Given the description of an element on the screen output the (x, y) to click on. 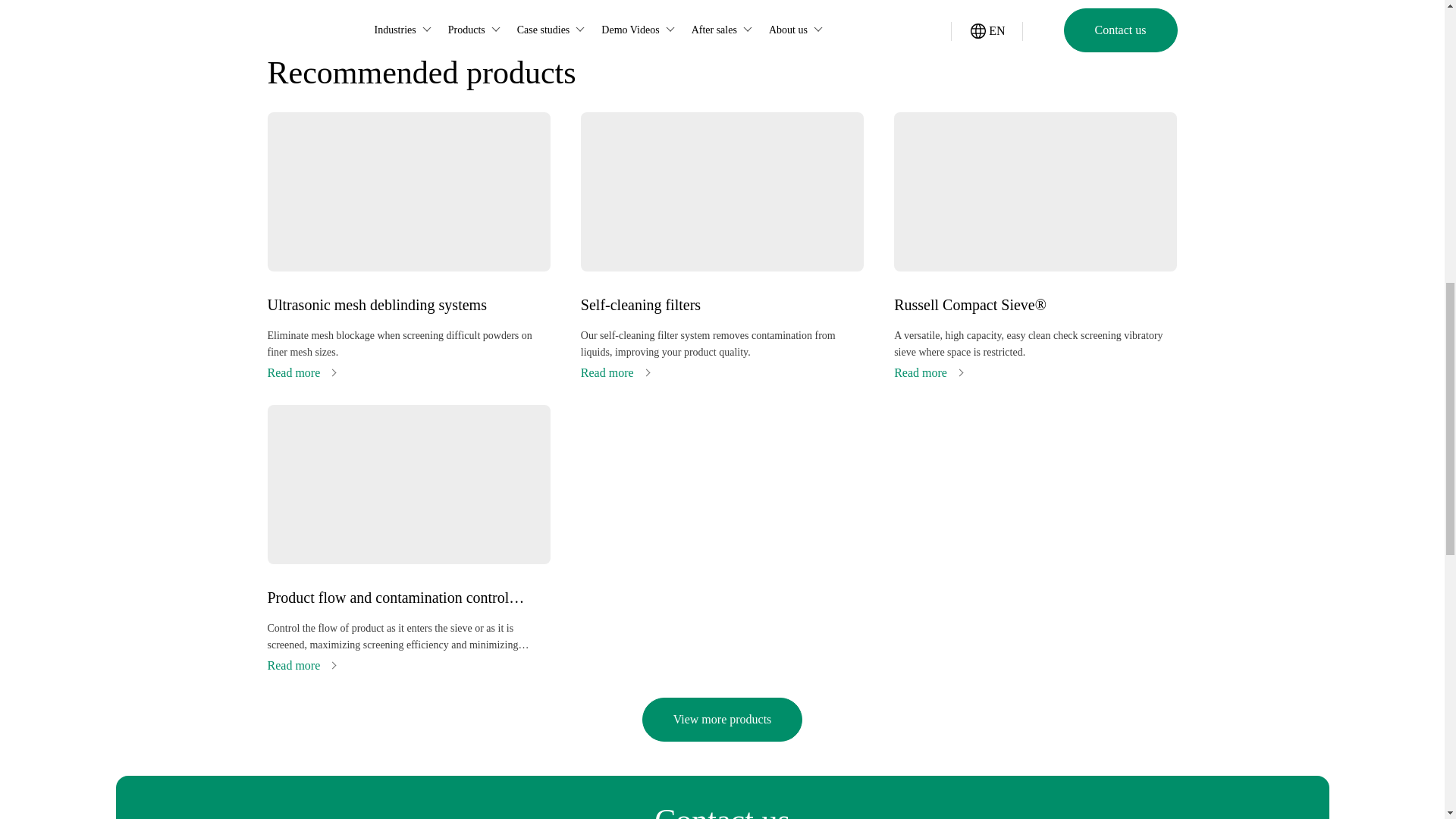
Read more (614, 372)
Read more (300, 372)
Read more (927, 372)
Read more (300, 665)
